Given the description of an element on the screen output the (x, y) to click on. 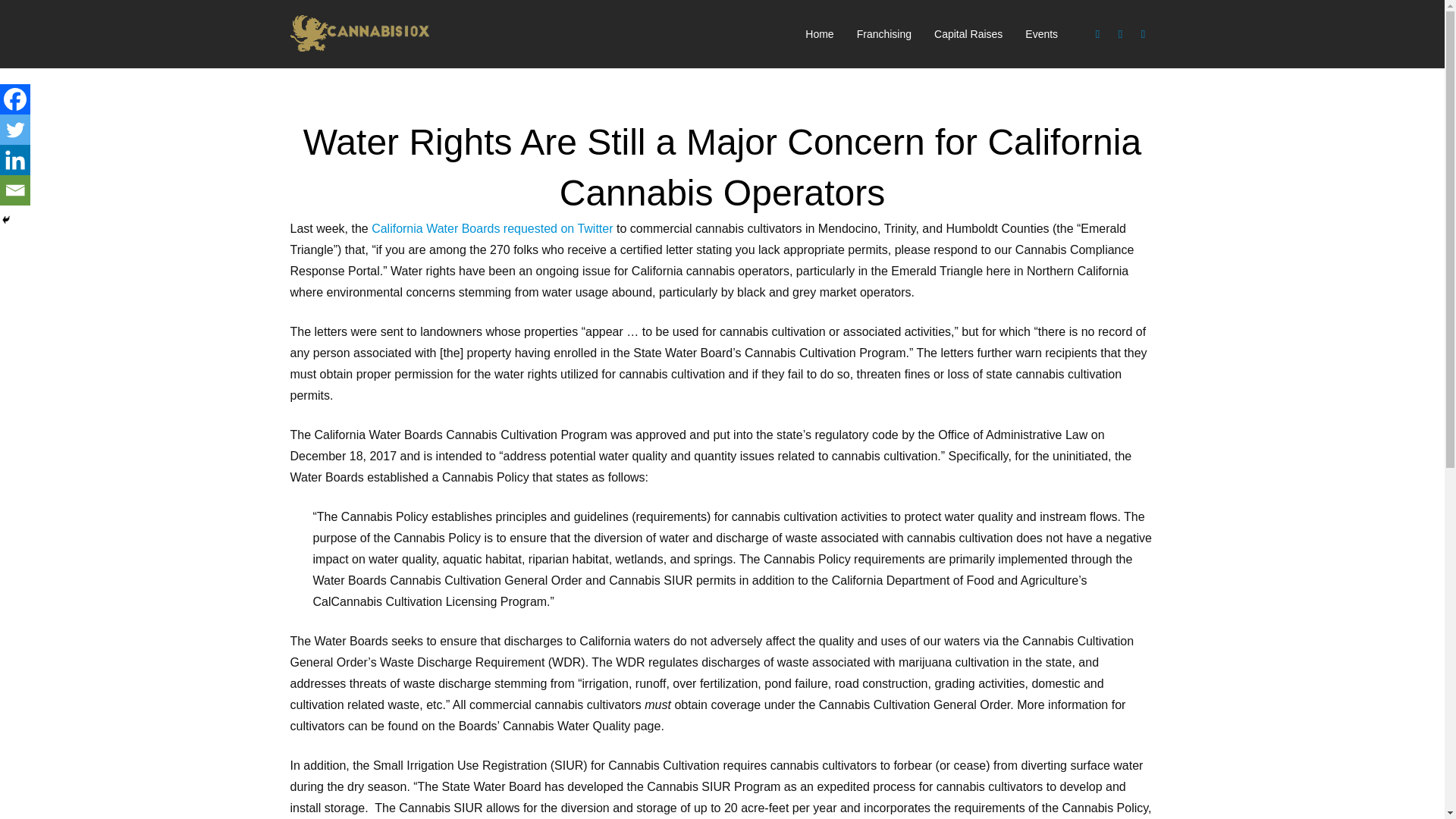
Facebook (15, 99)
Facebook (1097, 33)
Home (818, 34)
LinkedIn (1143, 33)
Linkedin (15, 159)
Franchising (884, 34)
Twitter (15, 129)
Email (15, 190)
Twitter (1120, 33)
Capital Raises (968, 34)
